Given the description of an element on the screen output the (x, y) to click on. 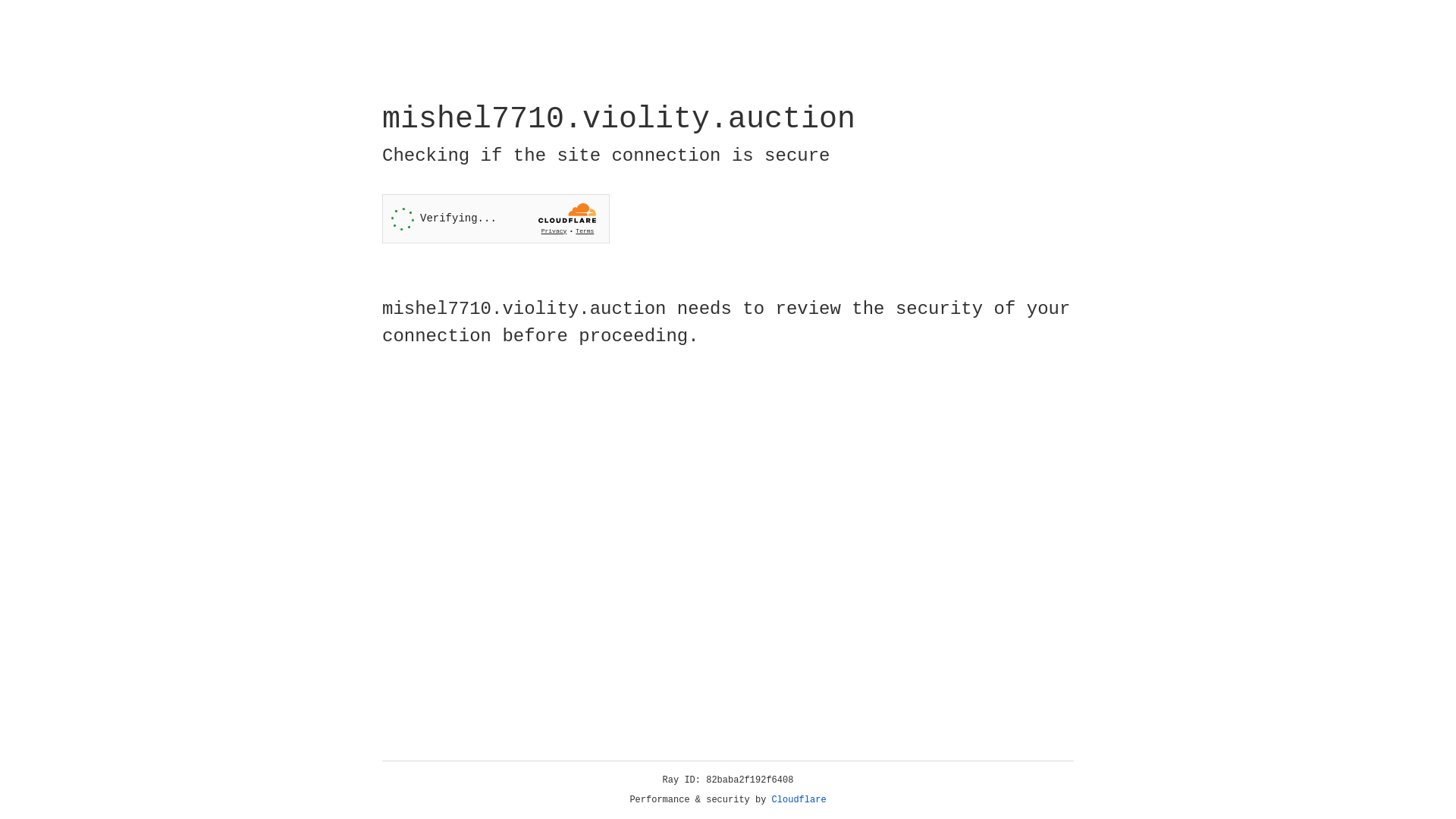
Widget containing a Cloudflare security challenge Element type: hover (495, 218)
Cloudflare Element type: text (798, 799)
